Given the description of an element on the screen output the (x, y) to click on. 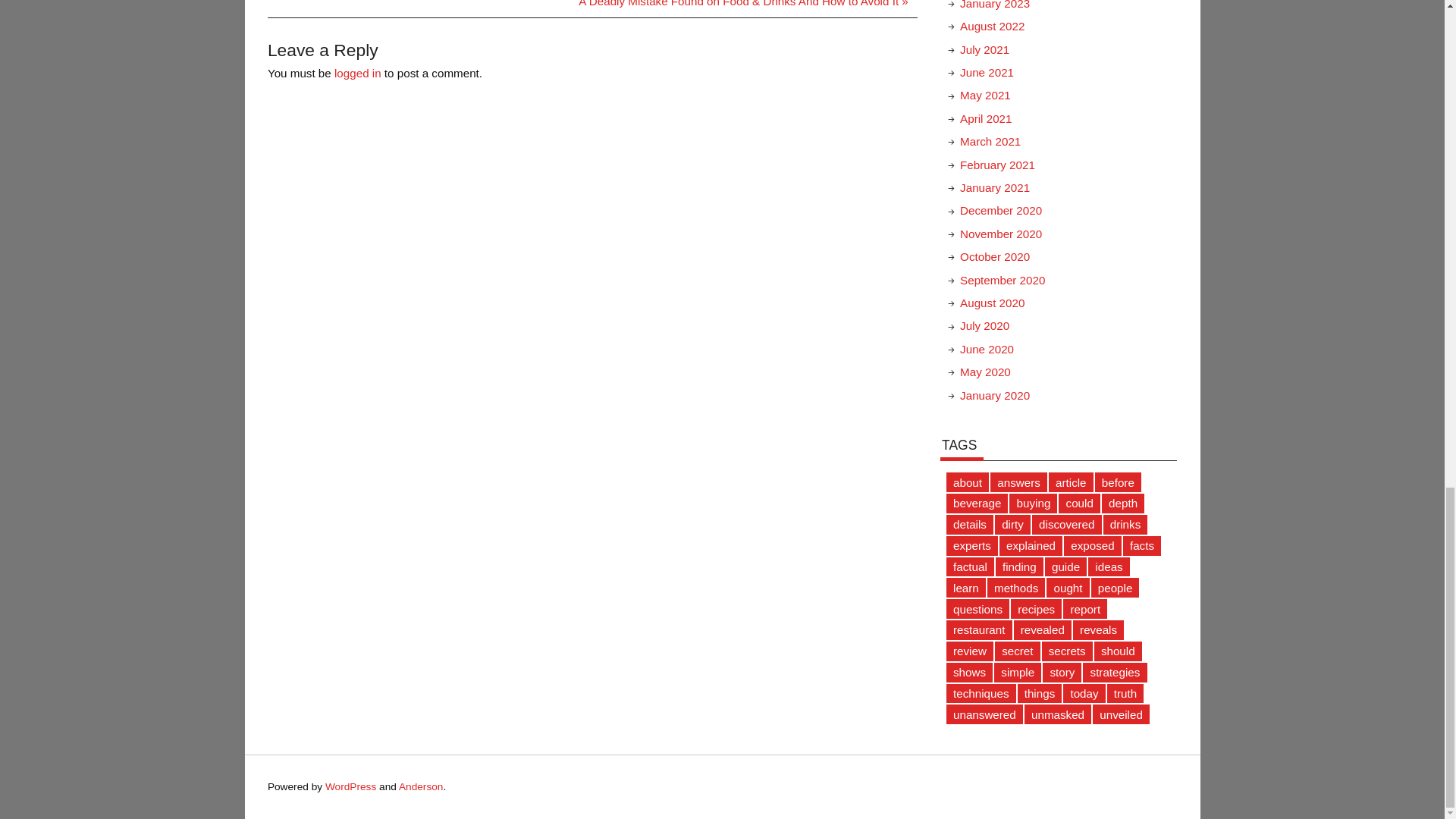
Anderson WordPress Theme (421, 786)
logged in (357, 72)
WordPress (349, 786)
